Given the description of an element on the screen output the (x, y) to click on. 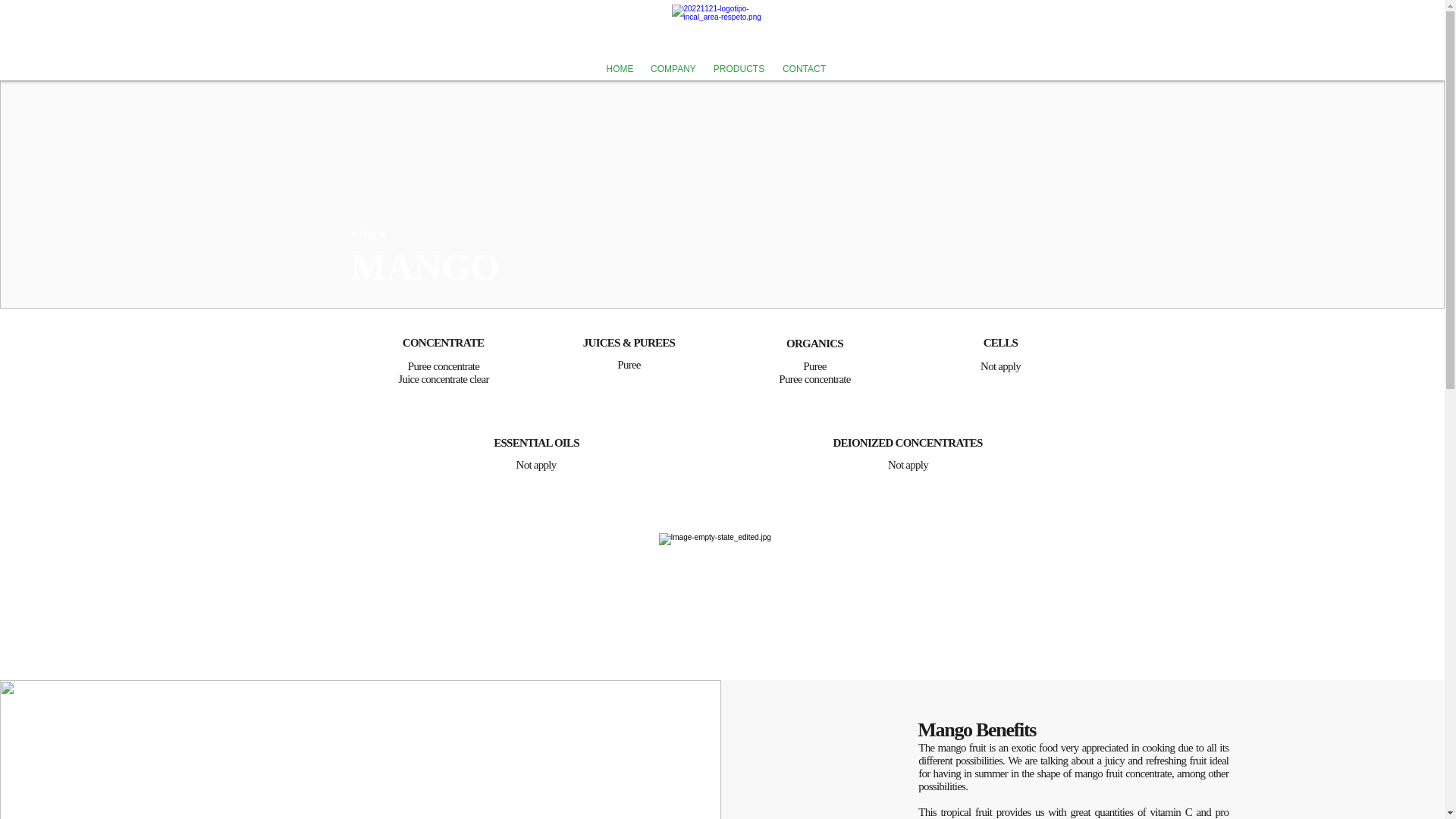
HOME (620, 68)
mango-pilmifresh.jpg (721, 596)
CONTACT (804, 68)
COMPANY (673, 68)
